Given the description of an element on the screen output the (x, y) to click on. 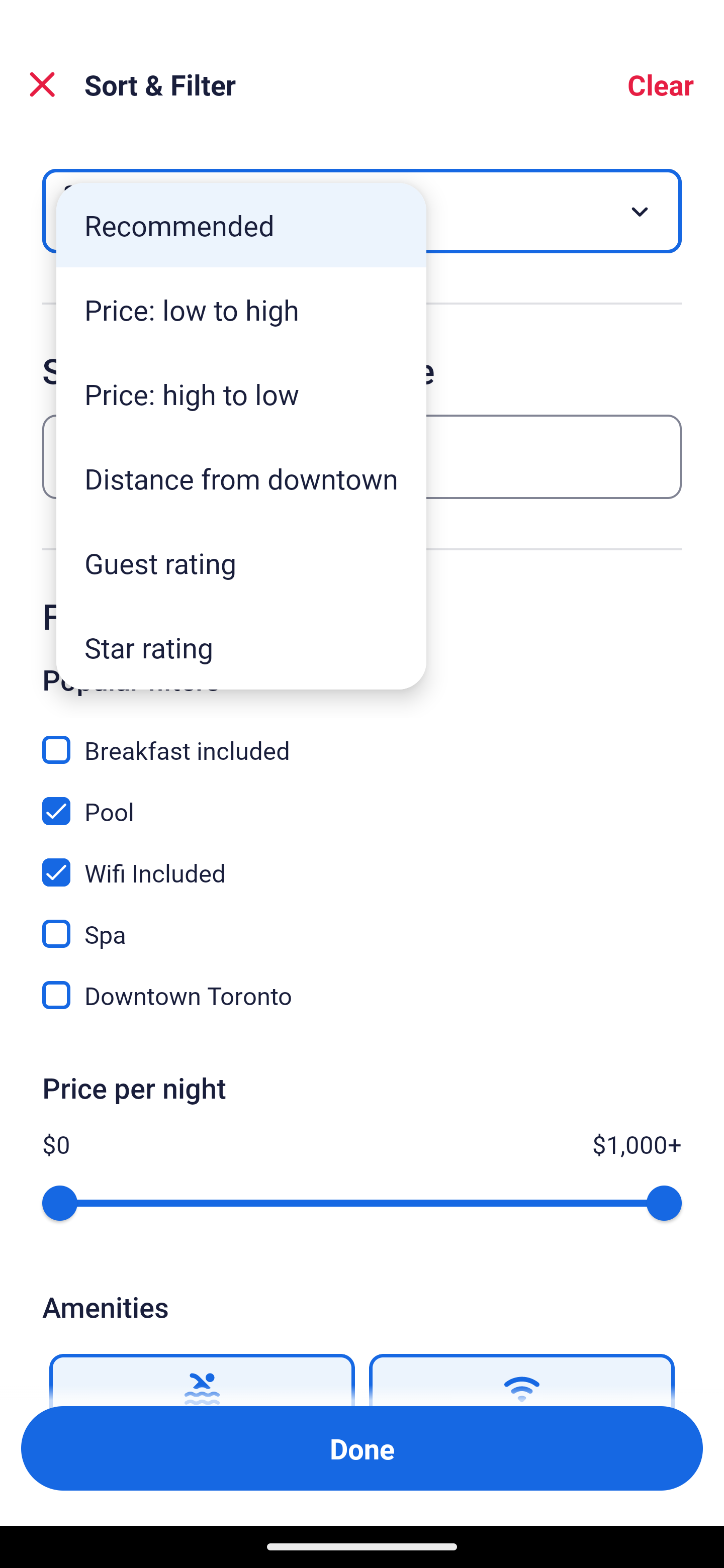
Price: low to high (241, 309)
Price: high to low (241, 393)
Distance from downtown (241, 477)
Guest rating (241, 562)
Star rating (241, 647)
